Given the description of an element on the screen output the (x, y) to click on. 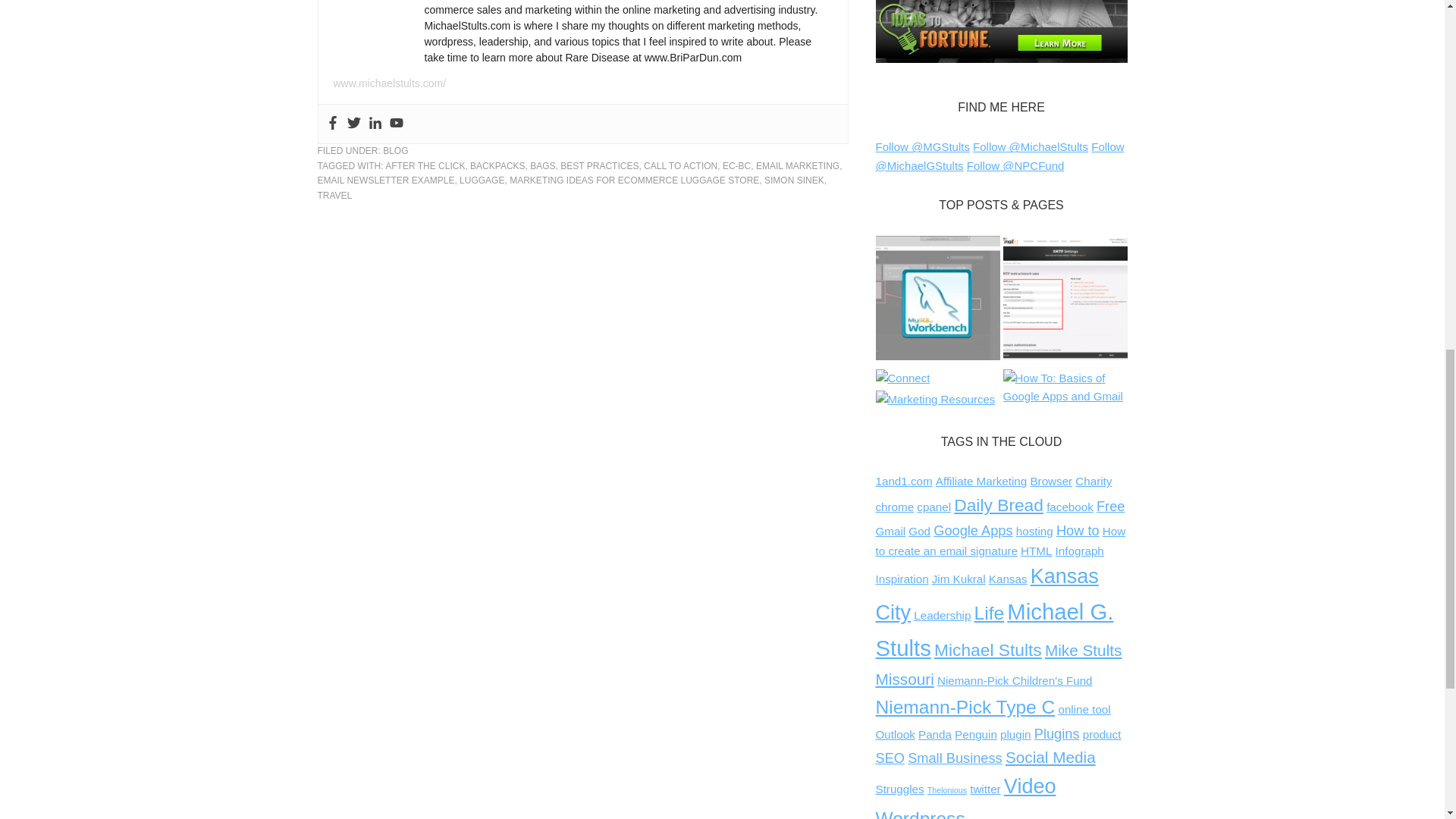
BLOG (394, 150)
LUGGAGE (481, 180)
BACKPACKS (497, 165)
AFTER THE CLICK (424, 165)
BEST PRACTICES (599, 165)
EMAIL MARKETING (797, 165)
MARKETING IDEAS FOR ECOMMERCE LUGGAGE STORE (633, 180)
EMAIL NEWSLETTER EXAMPLE (385, 180)
IdeasToFortune.com - Ignite Your Passion, Fuel Your Purpose (1000, 31)
SIMON SINEK (794, 180)
